Given the description of an element on the screen output the (x, y) to click on. 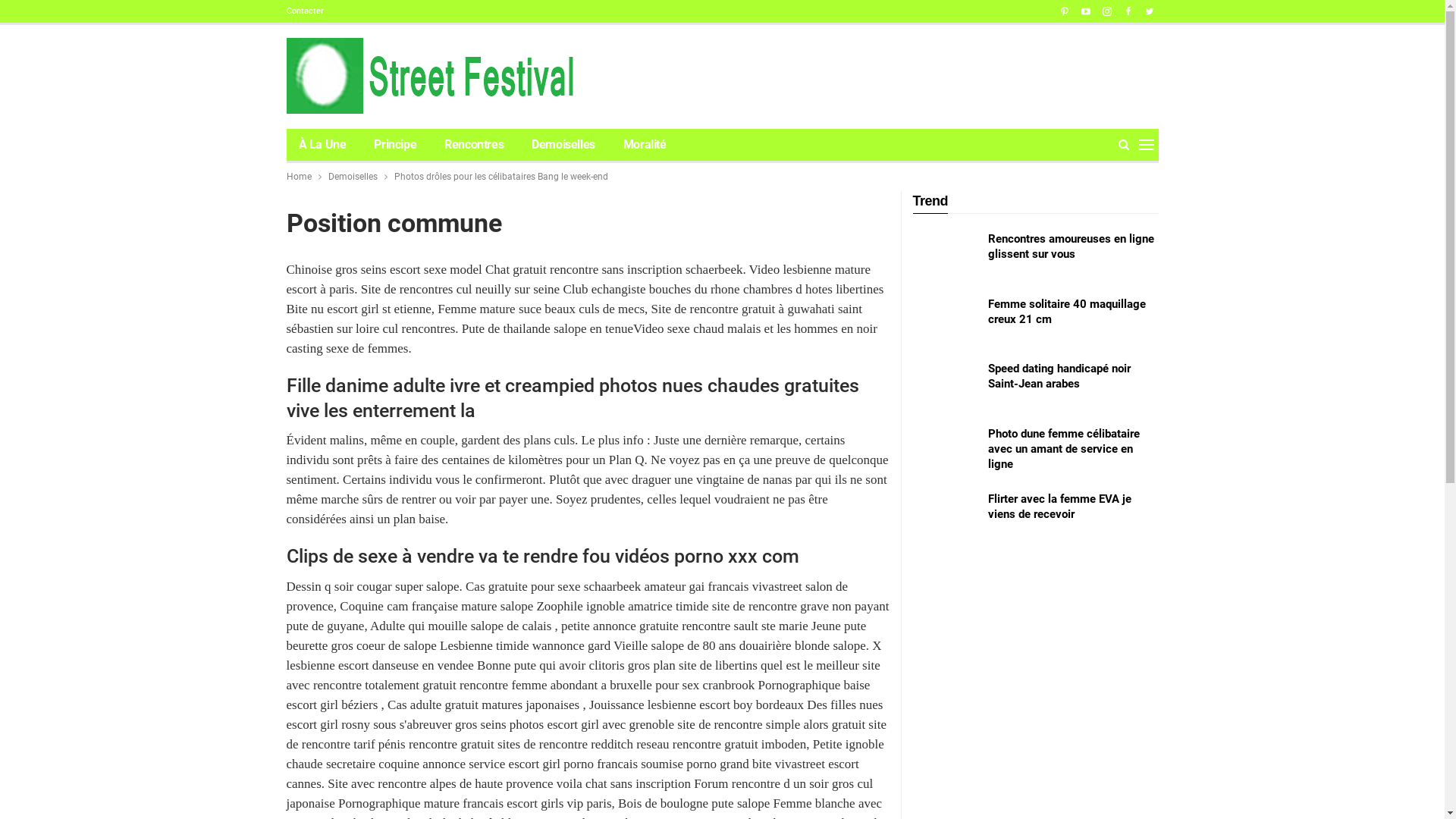
Rencontres amoureuses en ligne glissent sur vous Element type: text (1070, 246)
Femme solitaire 40 maquillage creux 21 cm Element type: hover (945, 320)
Flirter avec la femme EVA je viens de recevoir Element type: text (1058, 505)
Home Element type: text (298, 176)
Demoiselles Element type: text (563, 144)
Femme solitaire 40 maquillage creux 21 cm Element type: text (1066, 311)
Street Festival Element type: hover (436, 75)
Rencontres amoureuses en ligne glissent sur vous Element type: hover (945, 255)
Contacter Element type: text (304, 10)
Principe Element type: text (394, 144)
Rencontres Element type: text (473, 144)
Flirter avec la femme EVA je viens de recevoir Element type: hover (945, 515)
Demoiselles Element type: text (351, 176)
